Given the description of an element on the screen output the (x, y) to click on. 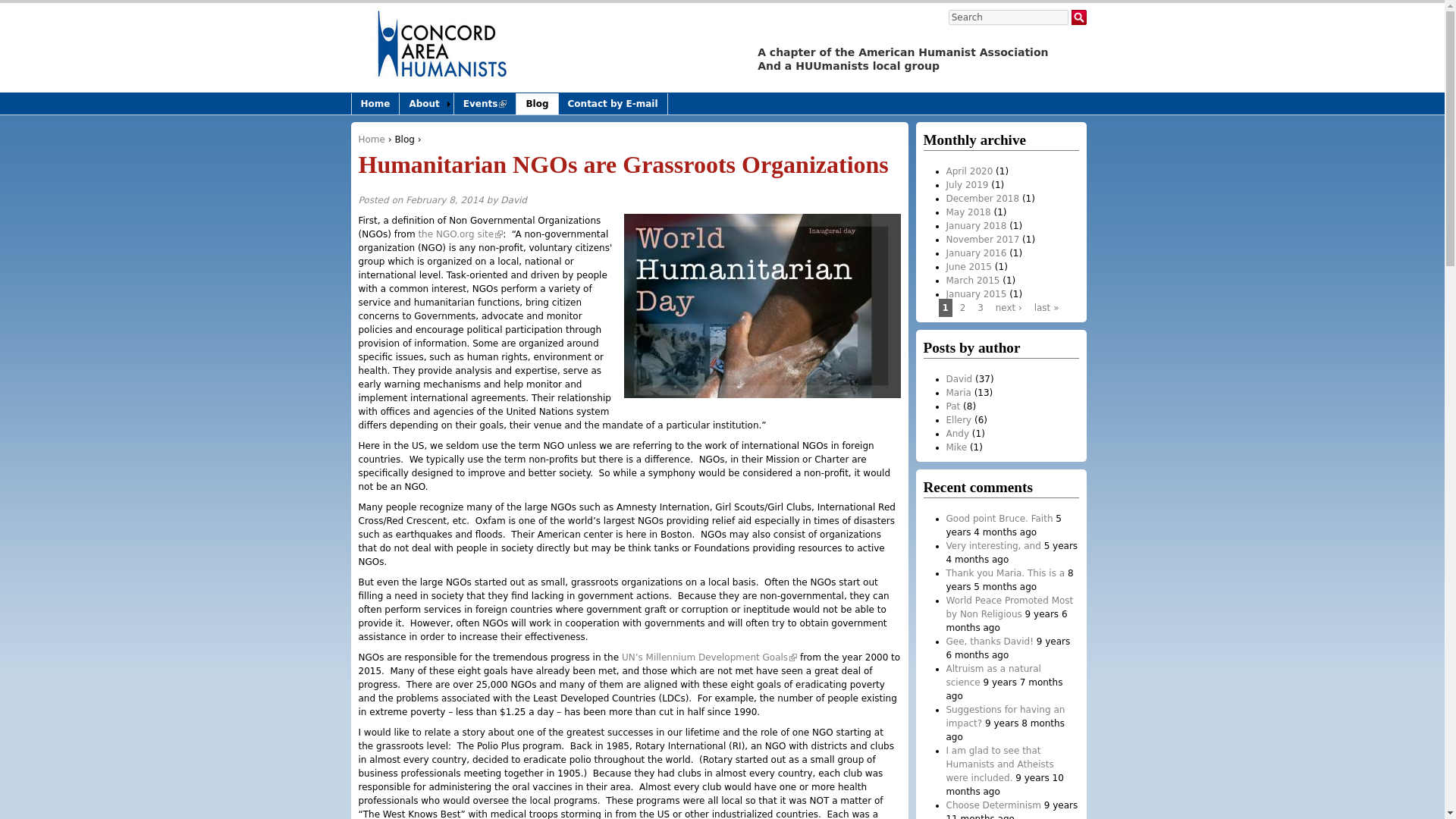
David (513, 199)
Visit Meetup.com to see our upcoming events. (485, 103)
November 2017 (983, 239)
Read the latest posts in the blog. (404, 139)
April 2020 (969, 171)
Contact us by e-mail. (612, 103)
March 2015 (973, 280)
Contact by E-mail (612, 103)
Blog (536, 103)
January 2015 (976, 294)
Home (375, 103)
Read the latest posts in the blog. (536, 103)
Blog (404, 139)
About (425, 103)
Learn about our organization. (425, 103)
